Given the description of an element on the screen output the (x, y) to click on. 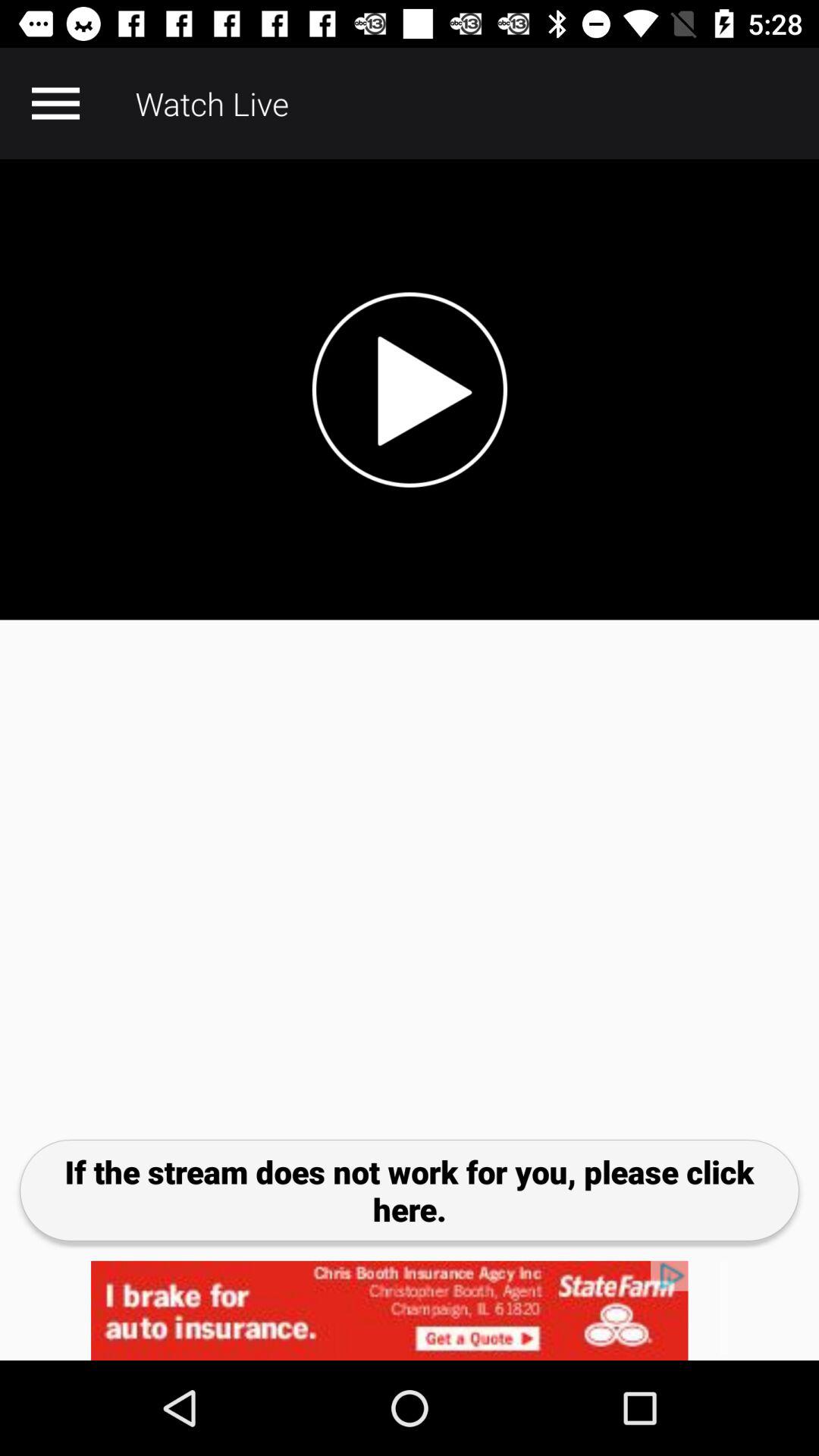
video tab (409, 389)
